Given the description of an element on the screen output the (x, y) to click on. 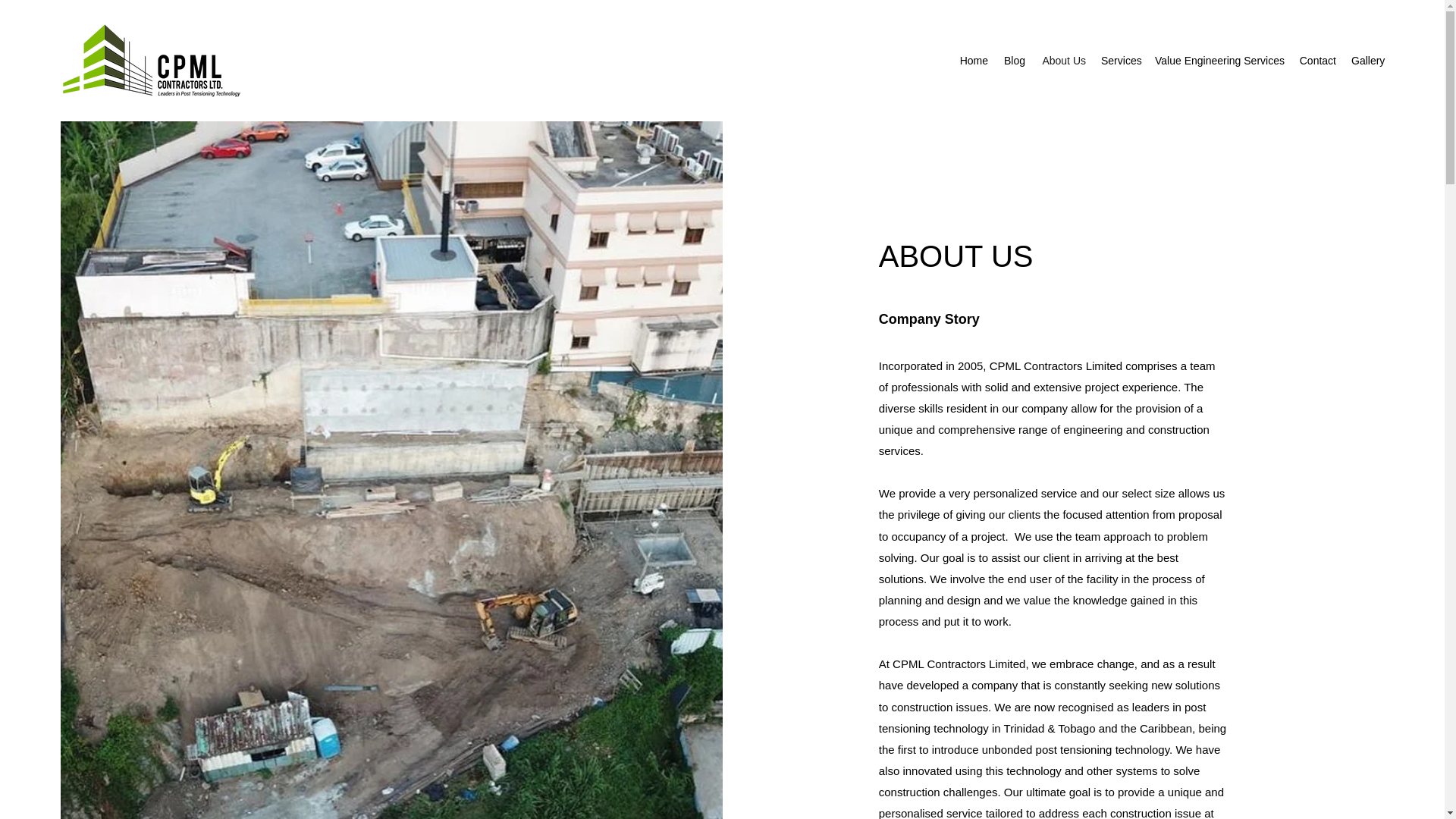
Blog (1013, 60)
Gallery (1367, 60)
Value Engineering Services (1218, 60)
Services (1120, 60)
Contact (1316, 60)
Home (973, 60)
About Us (1062, 60)
